Given the description of an element on the screen output the (x, y) to click on. 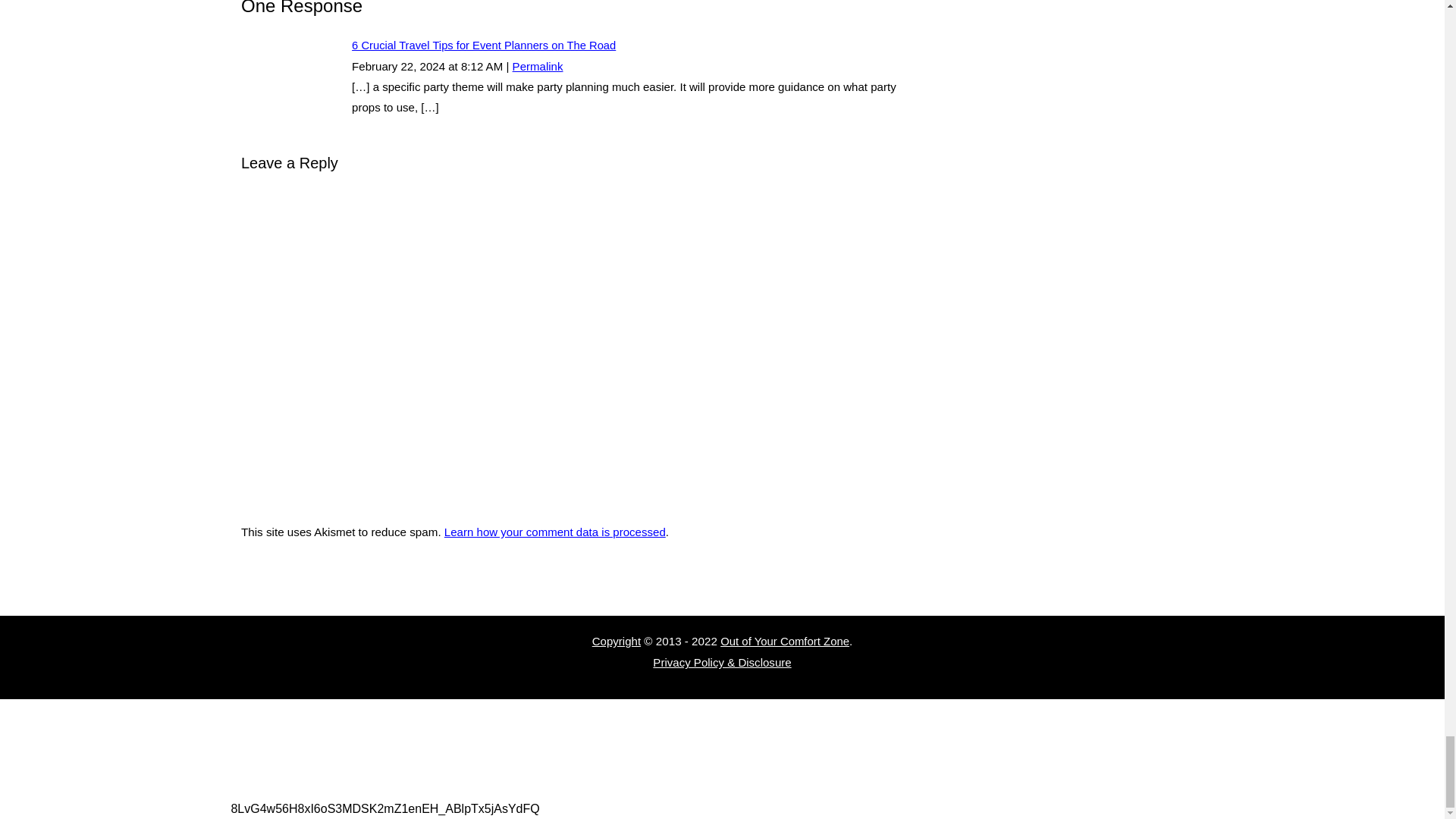
Copyright (616, 640)
Thursday, February 22nd, 2024, 8:12 am (398, 65)
Thursday, February 22nd, 2024, 8:12 am (481, 65)
Out of Your Comfort Zone (784, 640)
Permalink to comment 14173 (537, 65)
